Given the description of an element on the screen output the (x, y) to click on. 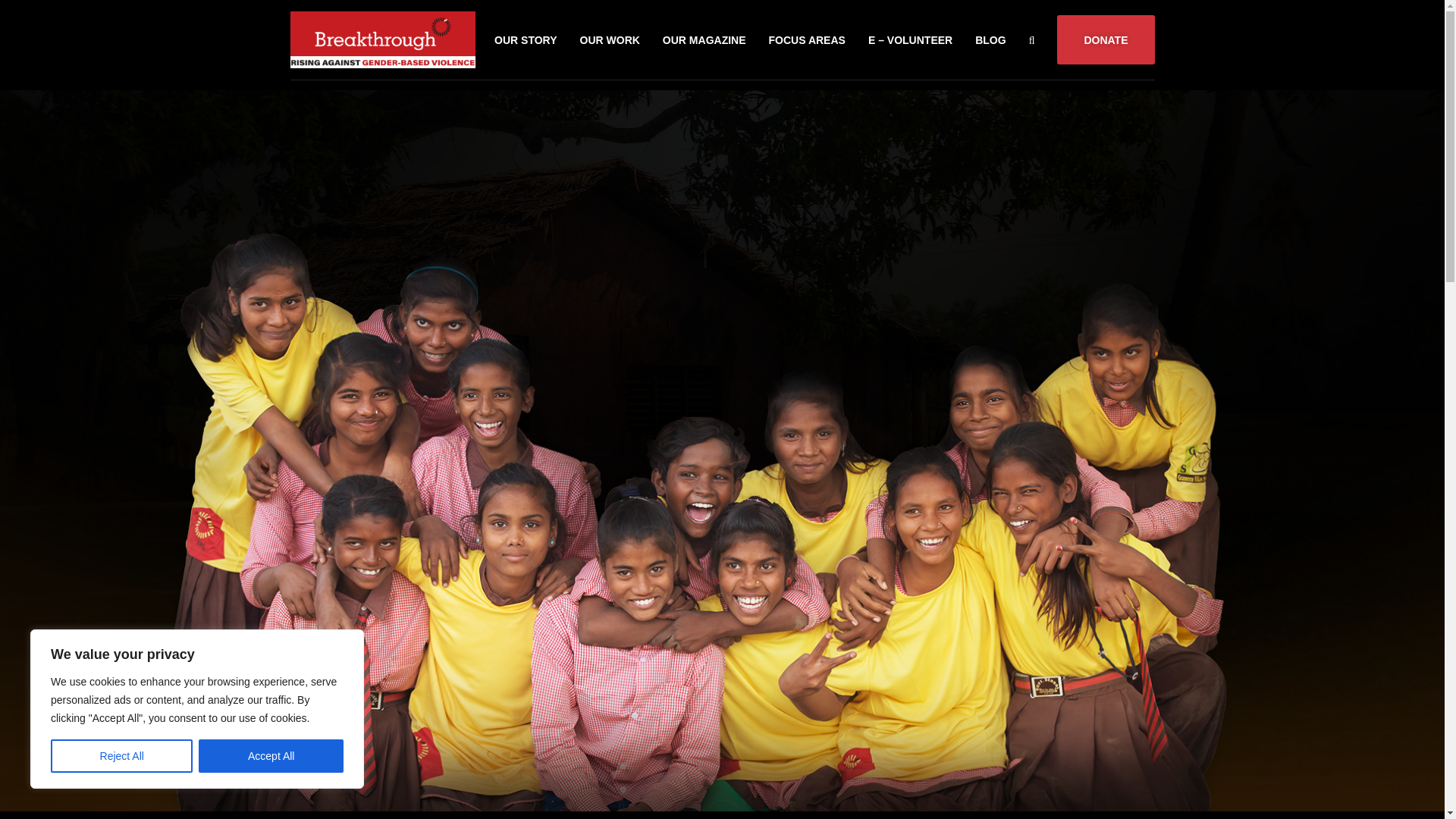
Our Magazine (703, 39)
Focus Areas (806, 39)
OUR MAGAZINE (703, 39)
Accept All (270, 756)
FOCUS AREAS (806, 39)
DONATE (1105, 39)
Reject All (121, 756)
